Given the description of an element on the screen output the (x, y) to click on. 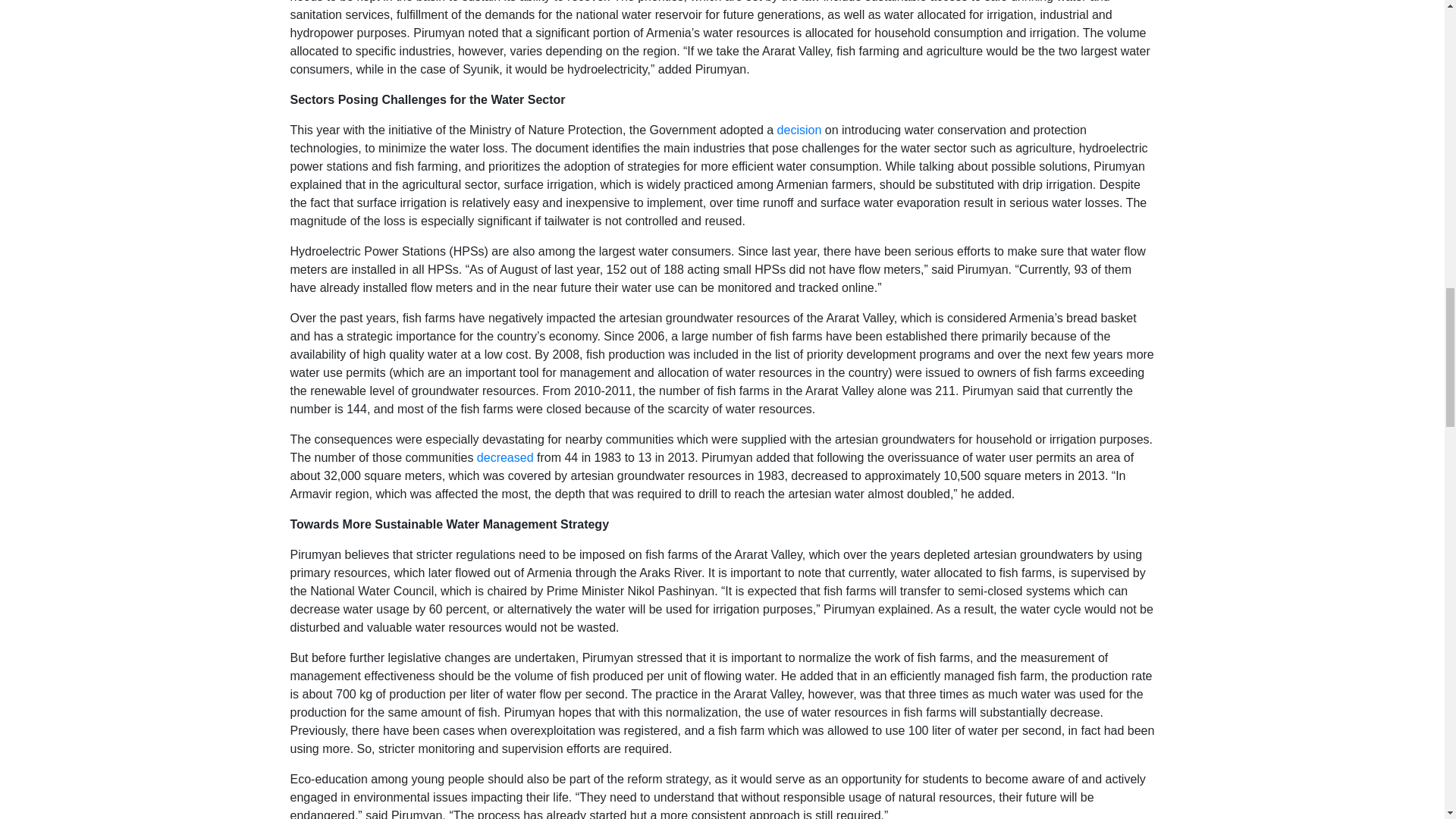
decision (799, 129)
decreased (505, 457)
